Given the description of an element on the screen output the (x, y) to click on. 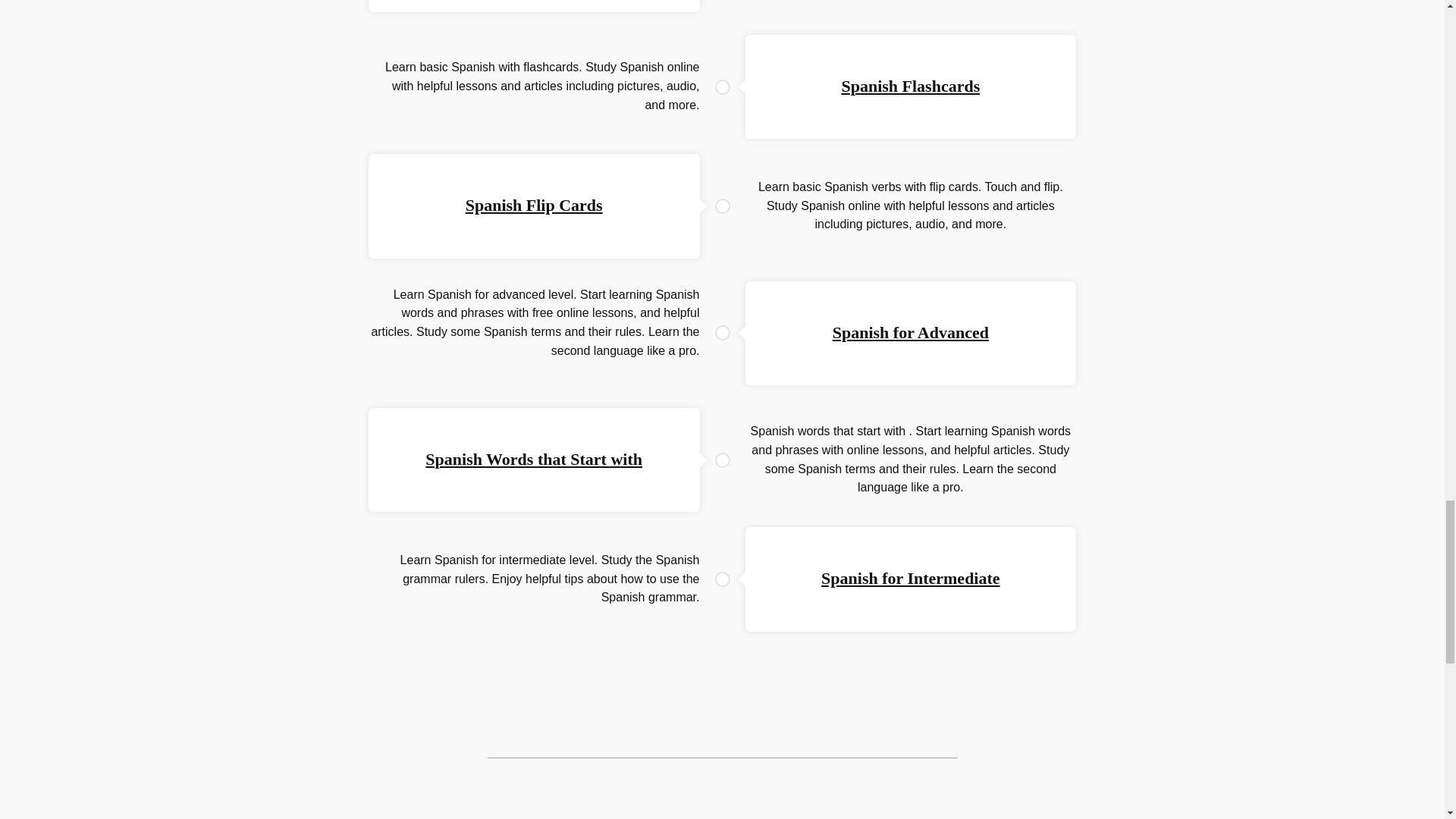
Spanish Words that Start with (533, 458)
Spanish for Advanced (910, 332)
Spanish Flashcards (910, 85)
Spanish for Intermediate (910, 578)
Spanish Flip Cards (533, 204)
